Given the description of an element on the screen output the (x, y) to click on. 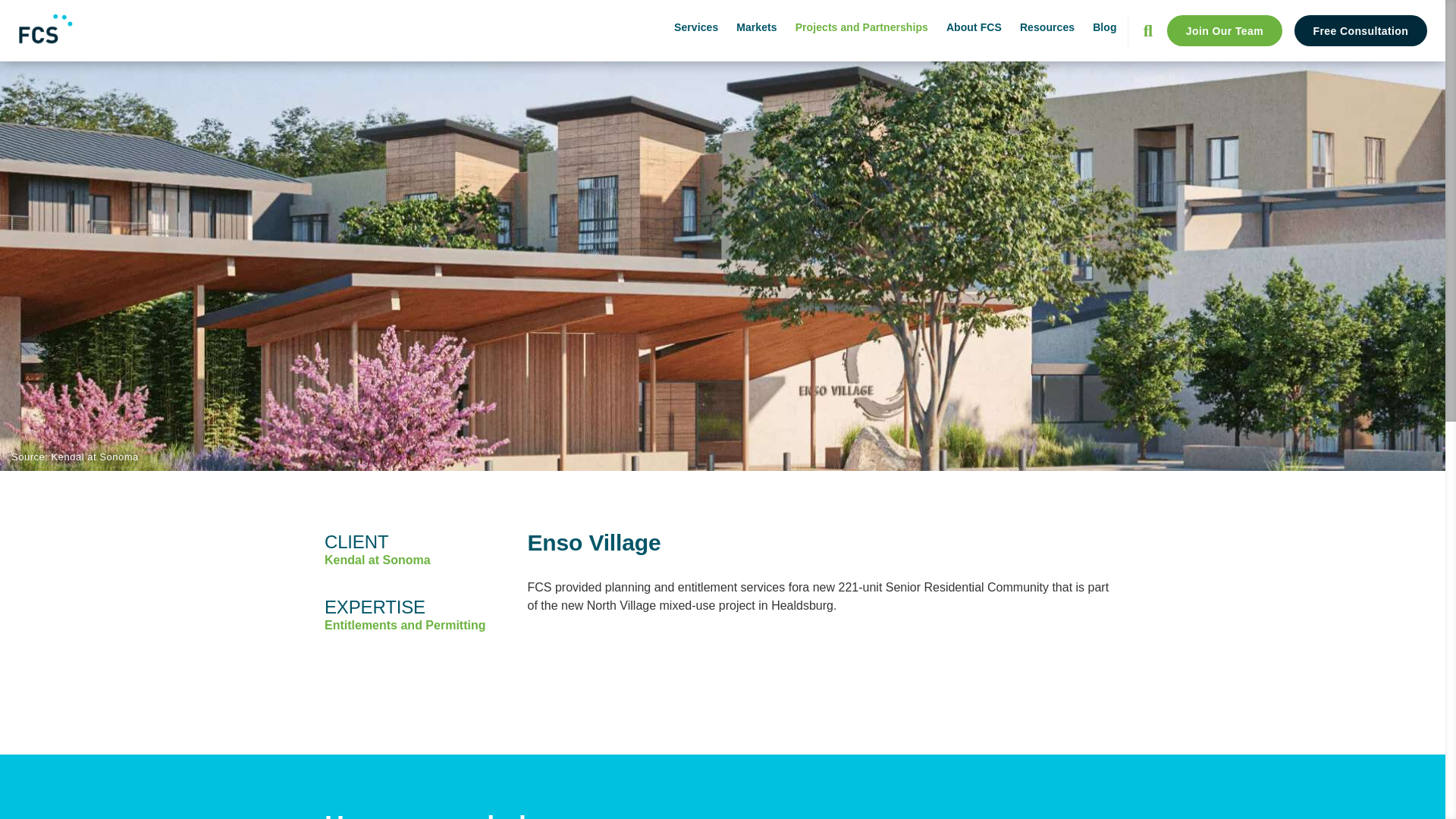
Projects and Partnerships (861, 27)
Resources (1047, 27)
About FCS (973, 27)
Markets (756, 27)
Services (695, 27)
